Given the description of an element on the screen output the (x, y) to click on. 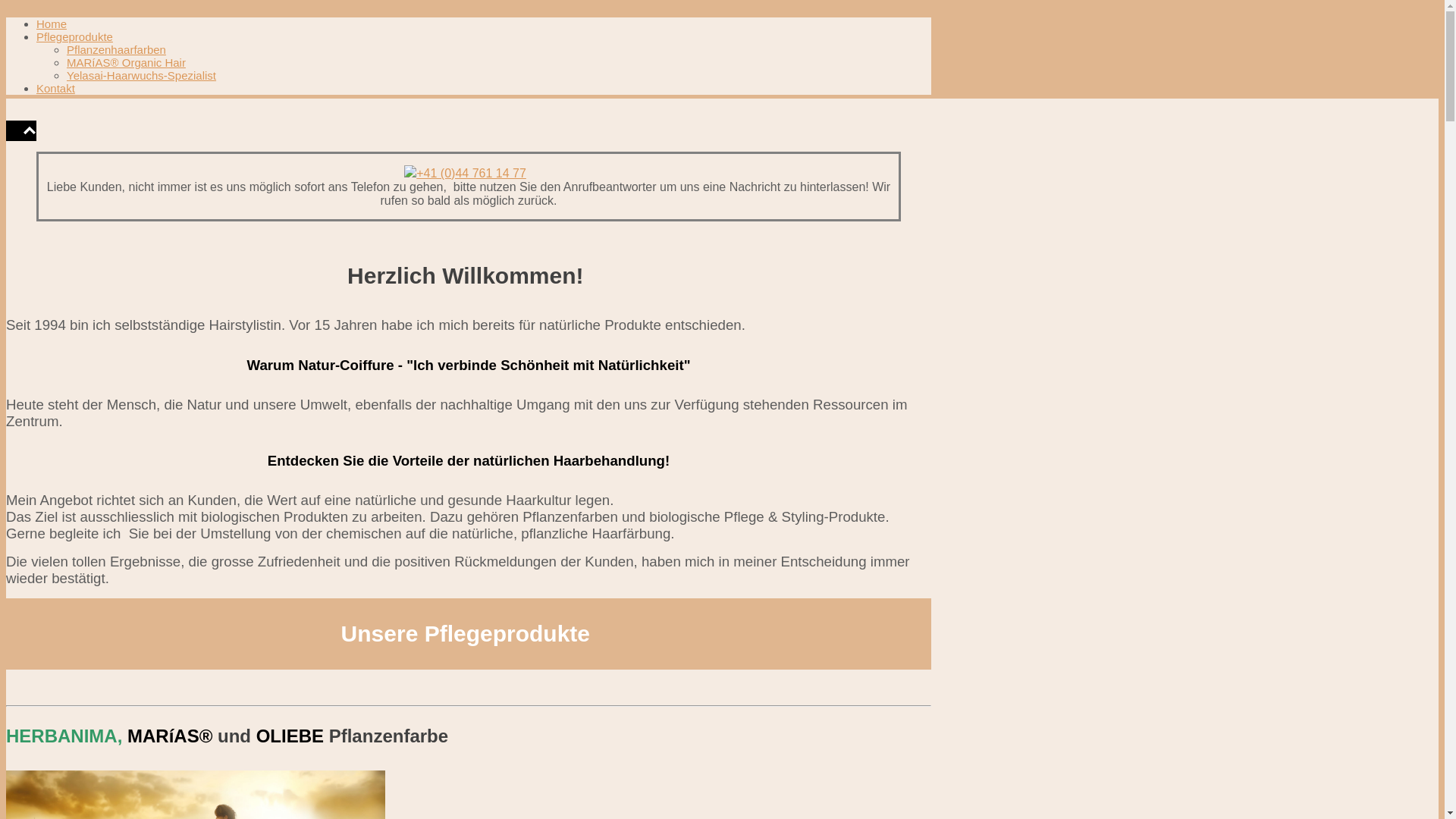
Pflegeprodukte Element type: text (74, 36)
Yelasai-Haarwuchs-Spezialist Element type: text (141, 75)
Kontakt Element type: text (55, 87)
Pflanzenhaarfarben Element type: text (116, 49)
Home Element type: text (51, 23)
+41 (0)44 761 14 77 Element type: text (471, 172)
